Given the description of an element on the screen output the (x, y) to click on. 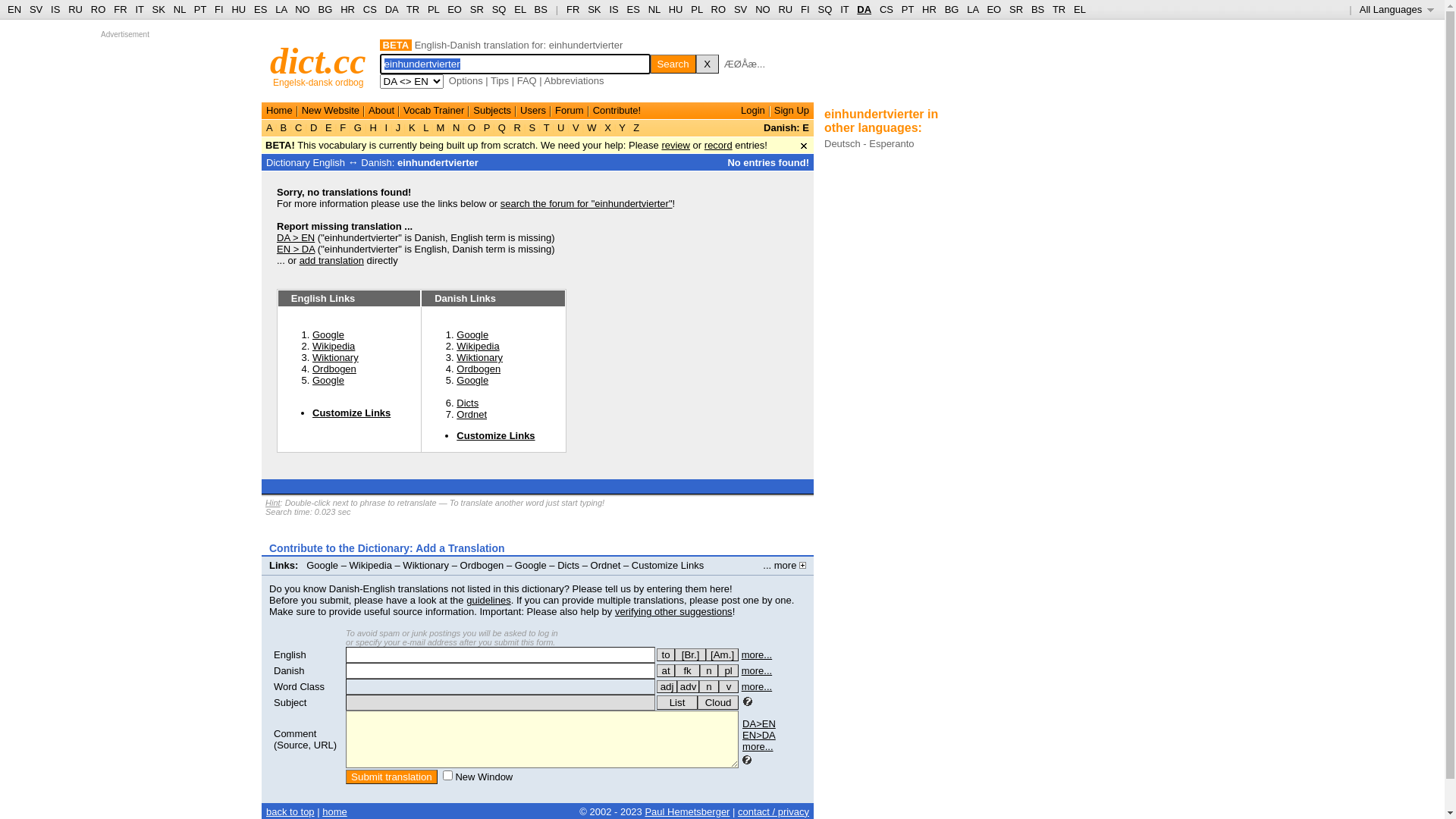
Danish Element type: text (288, 670)
B Element type: text (283, 127)
adj Element type: text (666, 686)
NL Element type: text (179, 9)
SV Element type: text (740, 9)
add translation Element type: text (331, 260)
Dictionary Element type: text (288, 162)
Home Element type: text (279, 110)
English Element type: text (289, 654)
F Element type: text (342, 127)
DA>EN Element type: text (758, 723)
EO Element type: text (993, 9)
BS Element type: text (540, 9)
Ordnet Element type: text (605, 565)
New Website Element type: text (330, 110)
NL Element type: text (654, 9)
contact / privacy Element type: text (773, 811)
LA Element type: text (280, 9)
Options Element type: text (465, 80)
LA Element type: text (972, 9)
Google Element type: text (328, 334)
SR Element type: text (476, 9)
Ordbogen Element type: text (482, 565)
FR Element type: text (119, 9)
Google Element type: text (472, 379)
CS Element type: text (886, 9)
ES Element type: text (260, 9)
flertal Element type: hover (728, 670)
Contribute! Element type: text (617, 110)
Y Element type: text (621, 127)
Google Element type: text (328, 379)
G Element type: text (357, 127)
Q Element type: text (501, 127)
search the forum for "einhundertvierter" Element type: text (586, 203)
T Element type: text (546, 127)
SQ Element type: text (824, 9)
for verbs Element type: hover (665, 654)
Dicts Element type: text (467, 402)
more... Element type: text (756, 670)
BG Element type: text (325, 9)
Login Element type: text (752, 110)
ES Element type: text (633, 9)
X Element type: text (608, 127)
Cloud Element type: text (717, 702)
U Element type: text (560, 127)
Sign Up Element type: text (791, 110)
SR Element type: text (1015, 9)
at Element type: text (665, 670)
E Element type: text (328, 127)
Paul Hemetsberger Element type: text (686, 811)
EL Element type: text (519, 9)
FAQ Element type: text (526, 80)
more... Element type: text (756, 686)
IS Element type: text (613, 9)
[Br.] Element type: text (690, 654)
CS Element type: text (369, 9)
more... Element type: text (756, 654)
adv Element type: text (688, 686)
Z Element type: text (636, 127)
back to top Element type: text (290, 811)
DA Element type: text (391, 9)
Google Element type: text (322, 565)
A Element type: text (270, 127)
HU Element type: text (238, 9)
PL Element type: text (433, 9)
Wiktionary Element type: text (335, 357)
EO Element type: text (454, 9)
PL Element type: text (696, 9)
pl Element type: text (728, 670)
H Element type: text (373, 127)
... more Element type: text (784, 565)
Deutsch - Esperanto Element type: text (869, 143)
PT Element type: text (907, 9)
Search Element type: text (673, 63)
R Element type: text (517, 127)
EN > DA Element type: text (295, 248)
Customize Links Element type: text (495, 435)
HU Element type: text (675, 9)
TR Element type: text (1058, 9)
P Element type: text (486, 127)
C Element type: text (297, 127)
SK Element type: text (158, 9)
L Element type: text (425, 127)
(esp.) British English Element type: hover (690, 654)
SQ Element type: text (499, 9)
NO Element type: text (762, 9)
IT Element type: text (138, 9)
RO Element type: text (718, 9)
to Element type: text (665, 654)
record Element type: text (718, 144)
O Element type: text (470, 127)
einhundertvierter Element type: text (437, 162)
Ordbogen Element type: text (478, 368)
TR Element type: text (412, 9)
D Element type: text (313, 127)
FR Element type: text (572, 9)
V Element type: text (575, 127)
Subjects Element type: text (492, 110)
N Element type: text (455, 127)
HR Element type: text (347, 9)
Customize Links Element type: text (351, 412)
home Element type: text (334, 811)
Tips Element type: text (499, 80)
X Element type: text (707, 63)
List Element type: text (676, 702)
for verber Element type: hover (665, 670)
All Languages  Element type: text (1396, 9)
I Element type: text (386, 127)
RU Element type: text (785, 9)
IS Element type: text (54, 9)
review Element type: text (675, 144)
fk Element type: text (686, 670)
About Element type: text (381, 110)
Wiktionary Element type: text (479, 357)
SK Element type: text (593, 9)
(esp.) American English Element type: hover (722, 654)
W Element type: text (591, 127)
FI Element type: text (218, 9)
Wiktionary Element type: text (425, 565)
HR Element type: text (929, 9)
Dicts Element type: text (568, 565)
DA Element type: text (863, 9)
SV Element type: text (35, 9)
n Element type: text (708, 686)
RU Element type: text (75, 9)
Forum Element type: text (569, 110)
Ordnet Element type: text (471, 414)
Hint Element type: text (272, 502)
verifying other suggestions Element type: text (673, 611)
Vocab Trainer Element type: text (433, 110)
Customize Links Element type: text (667, 565)
Google Element type: text (472, 334)
Google Element type: text (530, 565)
DA > EN Element type: text (295, 237)
Submit translation Element type: text (391, 776)
PT Element type: text (200, 9)
Abbreviations Element type: text (574, 80)
Wikipedia Element type: text (370, 565)
Contribute to the Dictionary: Add a Translation Element type: text (387, 548)
BS Element type: text (1037, 9)
RO Element type: text (98, 9)
n Element type: text (708, 670)
v Element type: text (728, 686)
Users Element type: text (533, 110)
Danish: E Element type: text (786, 127)
more... Element type: text (757, 746)
Ordbogen Element type: text (334, 368)
Wikipedia Element type: text (477, 345)
M Element type: text (440, 127)
NO Element type: text (302, 9)
EN Element type: text (14, 9)
guidelines Element type: text (488, 599)
BG Element type: text (951, 9)
Wikipedia Element type: text (333, 345)
[Am.] Element type: text (722, 654)
dict.cc Element type: text (317, 60)
K Element type: text (411, 127)
EL Element type: text (1079, 9)
IT Element type: text (844, 9)
S Element type: text (532, 127)
FI Element type: text (804, 9)
J Element type: text (397, 127)
EN>DA Element type: text (758, 734)
